Given the description of an element on the screen output the (x, y) to click on. 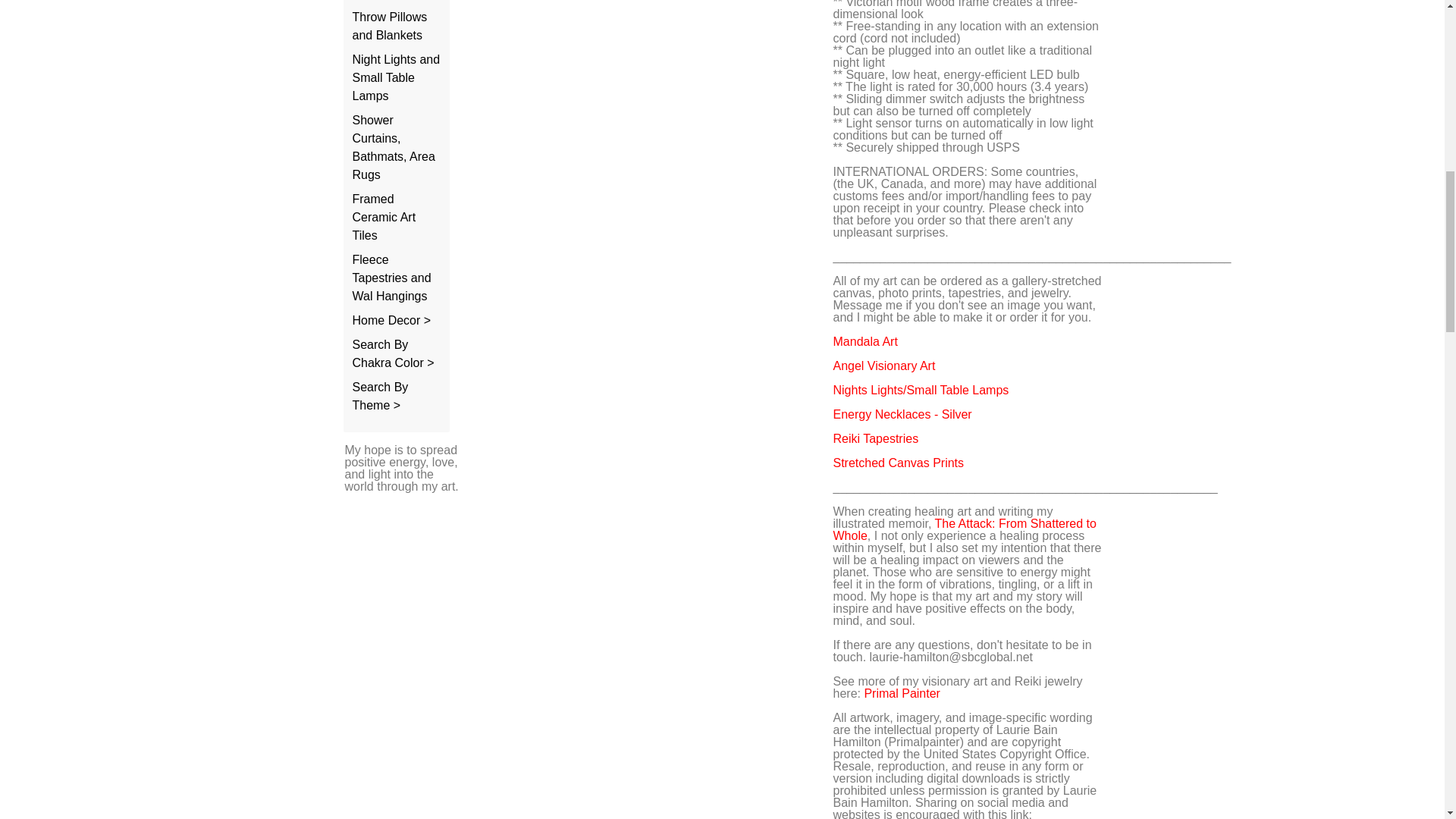
Night Lights and Small Table Lamps (395, 77)
Fleece Tapestries and Wal Hangings (391, 277)
Throw Pillows and Blankets (389, 25)
Framed Ceramic Art Tiles (383, 216)
Shower Curtains, Bathmats, Area Rugs (392, 146)
